Given the description of an element on the screen output the (x, y) to click on. 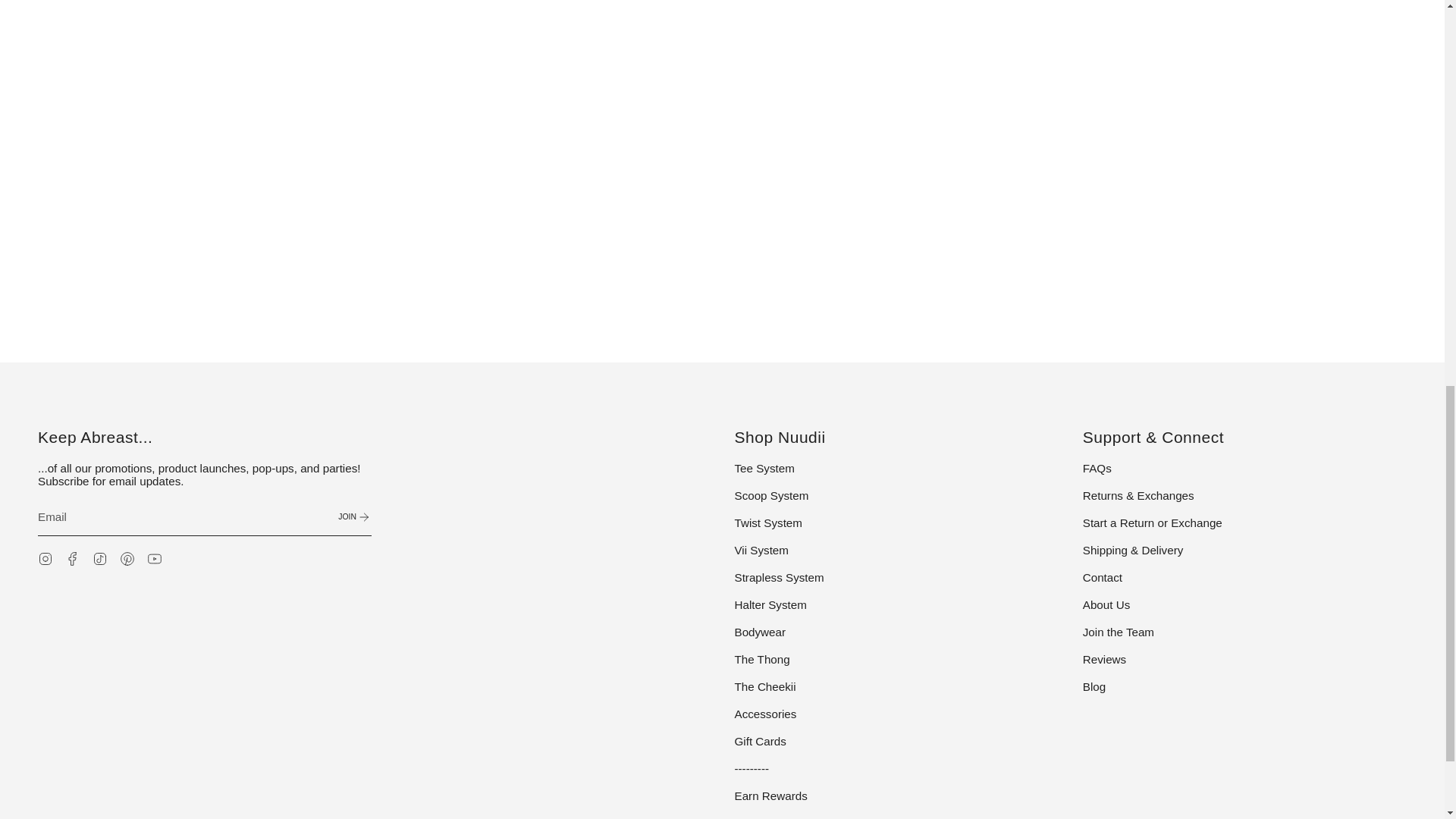
Contact Us (1084, 316)
PERSONAL STYLING SESSION (857, 316)
Nuudii System on Facebook (72, 557)
Nuudii System on Pinterest (127, 557)
Nuudii System on YouTube (154, 557)
Nuudii System on Instagram (44, 557)
Nuudii System on TikTok (100, 557)
